Given the description of an element on the screen output the (x, y) to click on. 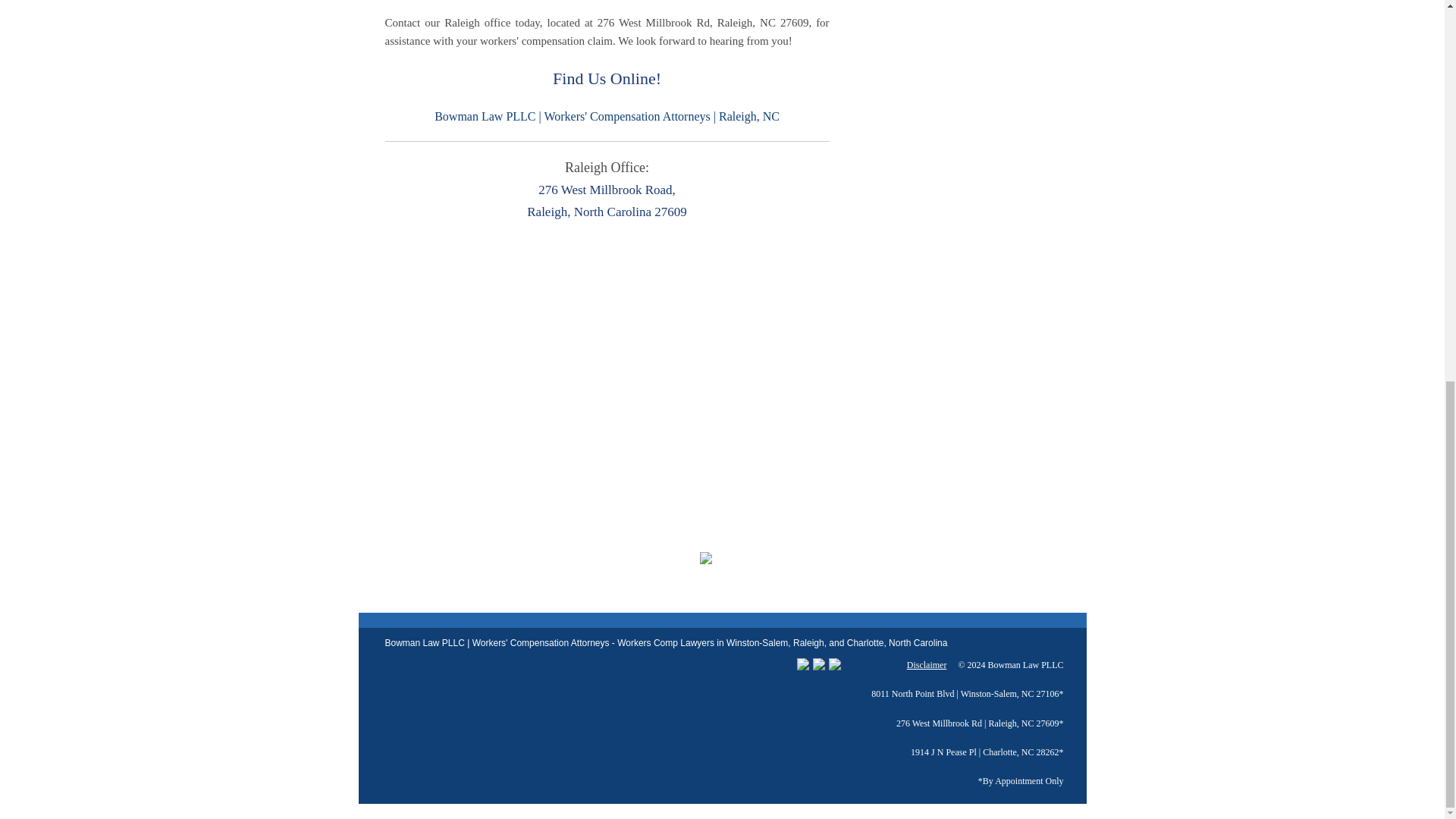
Disclaimer (927, 665)
Twitter (802, 664)
facebook (818, 664)
linkedin (834, 664)
